Given the description of an element on the screen output the (x, y) to click on. 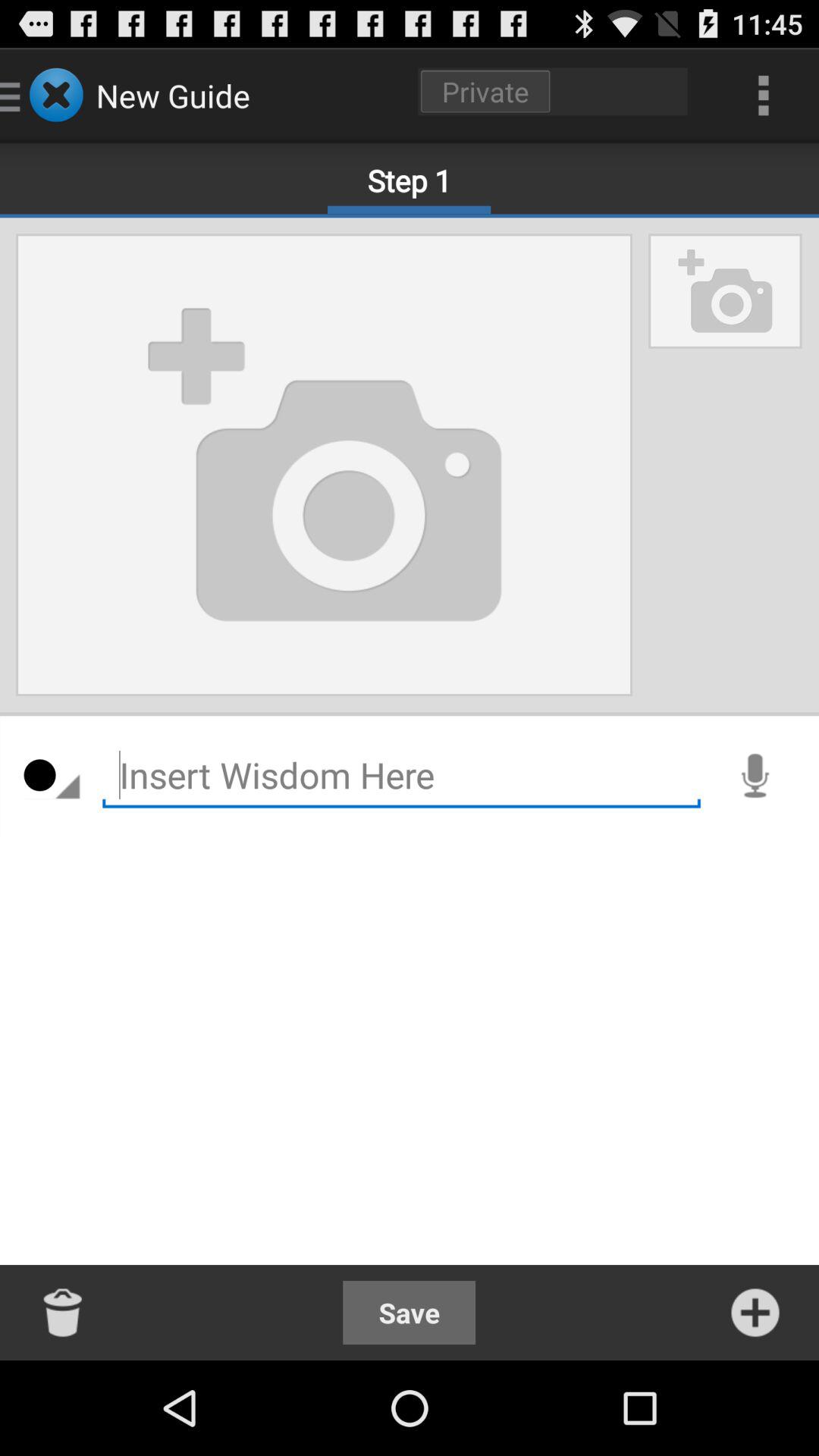
insert caption (401, 775)
